Given the description of an element on the screen output the (x, y) to click on. 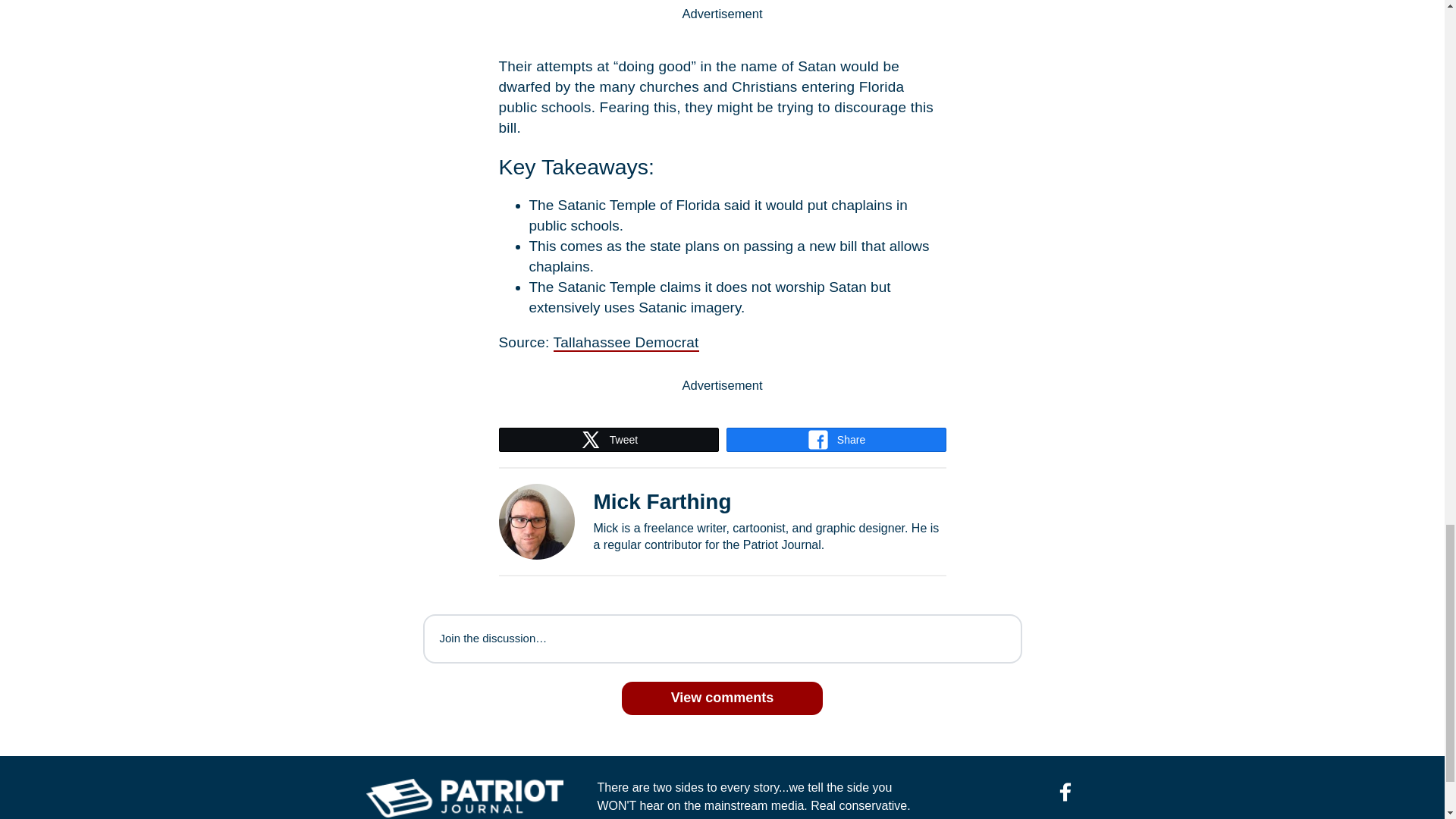
Tweet (608, 439)
Tallahassee Democrat (625, 343)
Share (835, 439)
View comments (722, 697)
